Given the description of an element on the screen output the (x, y) to click on. 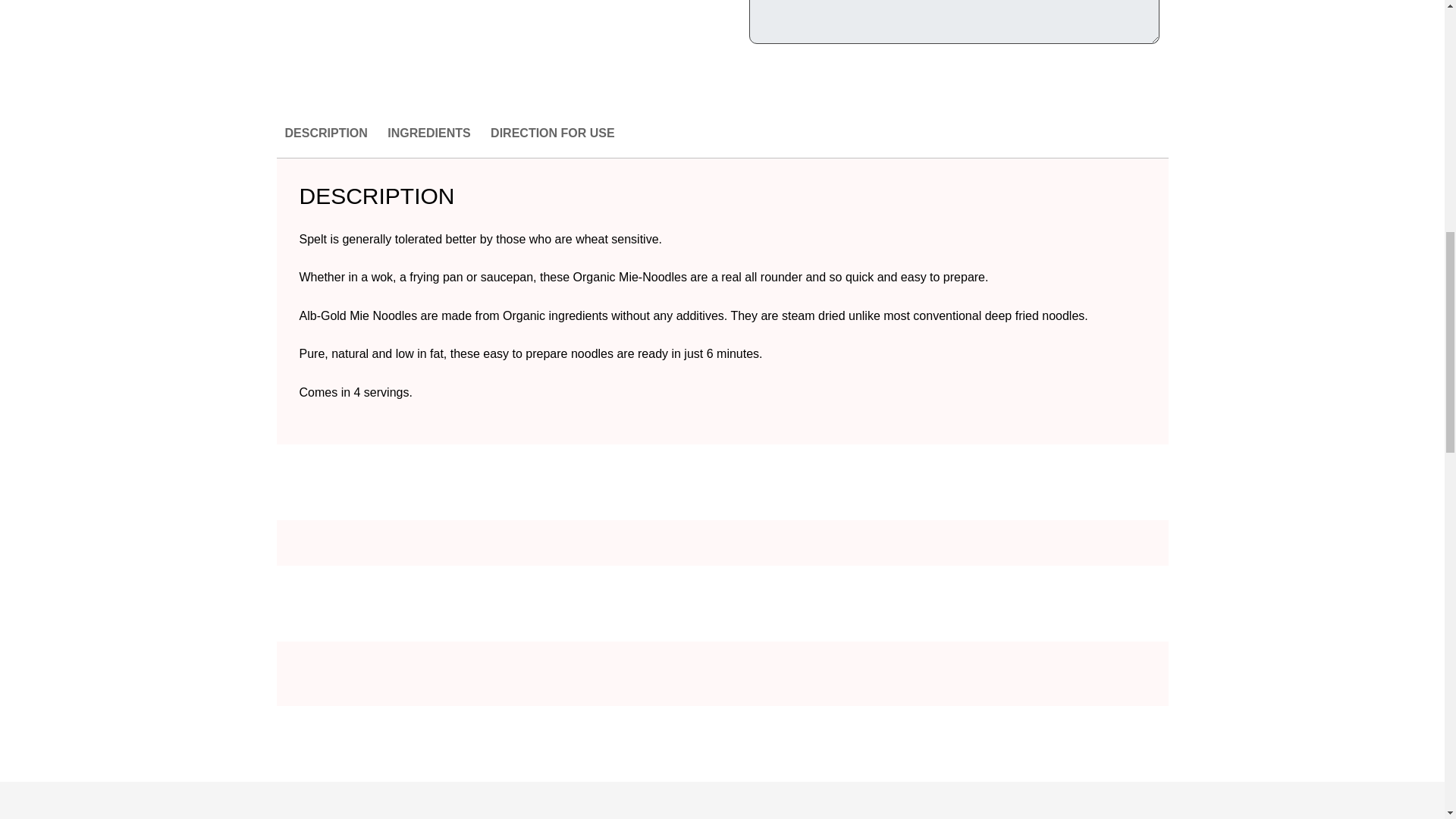
INGREDIENTS (428, 141)
SEND ENQUIRY NOW (953, 80)
DIRECTION FOR USE (552, 141)
DESCRIPTION (326, 141)
